Given the description of an element on the screen output the (x, y) to click on. 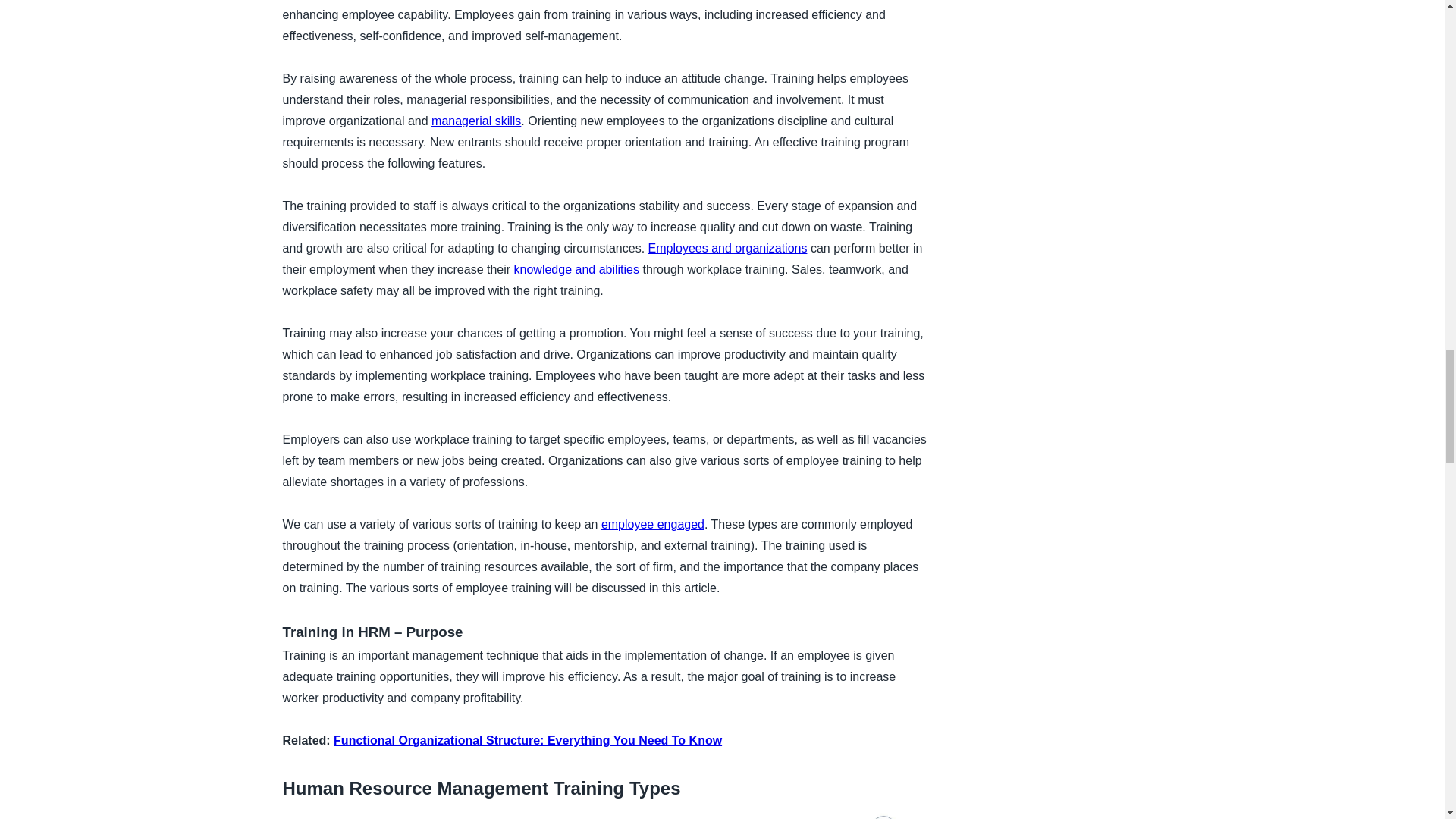
knowledge and abilities (576, 269)
employee engaged (652, 523)
Employees and organizations (727, 247)
managerial skills (475, 120)
